Given the description of an element on the screen output the (x, y) to click on. 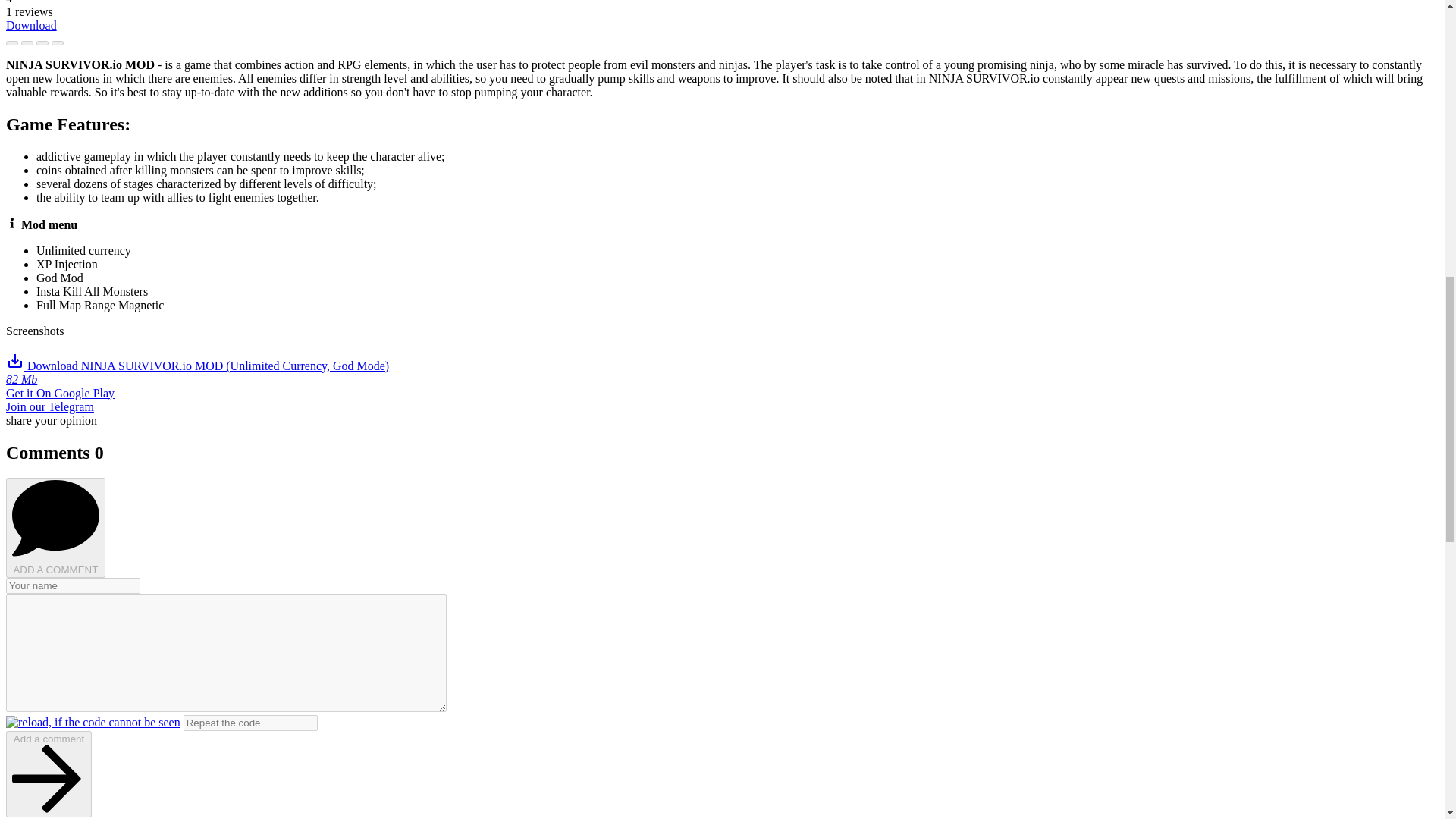
Enter the code shown in the picture (250, 722)
reload, if the code cannot be seen (92, 721)
